Given the description of an element on the screen output the (x, y) to click on. 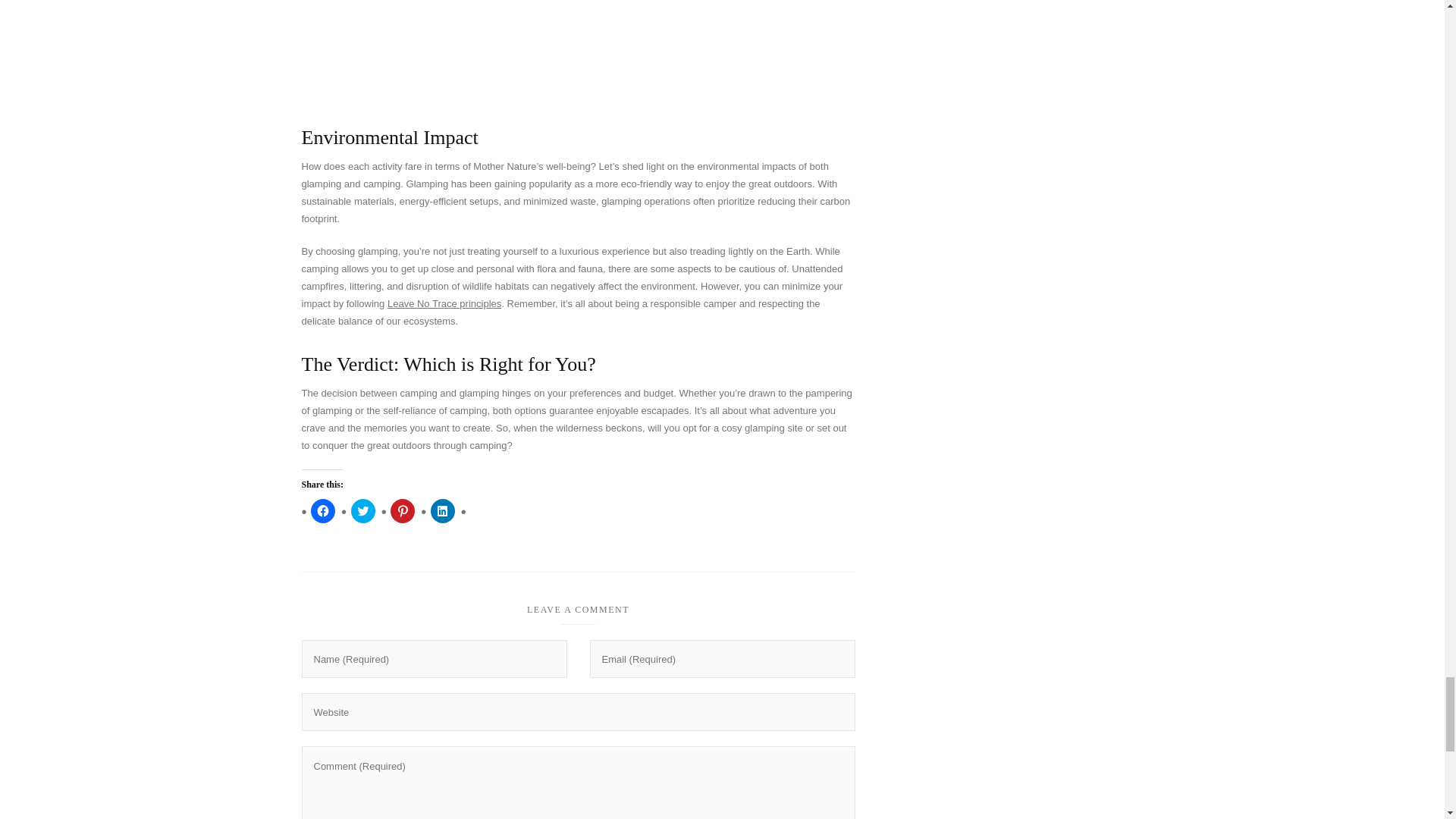
Click to share on Twitter (362, 510)
Click to share on Facebook (322, 510)
Click to share on Pinterest (402, 510)
Click to share on LinkedIn (442, 510)
Leave No Trace principles (443, 303)
